Given the description of an element on the screen output the (x, y) to click on. 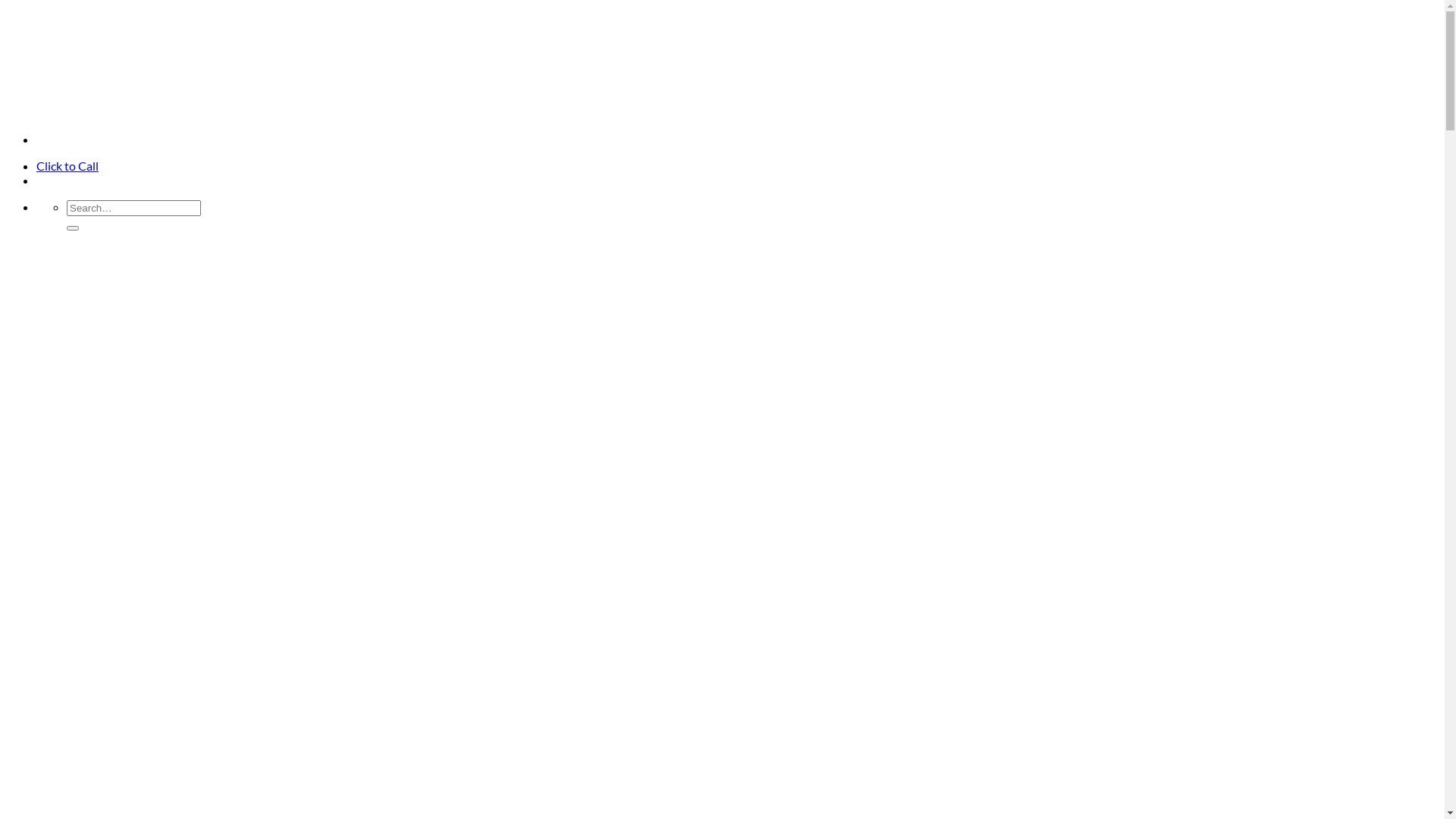
Skip to content Element type: text (5, 5)
Engineers Element type: hover (128, 83)
Click to Call Element type: text (67, 165)
